Given the description of an element on the screen output the (x, y) to click on. 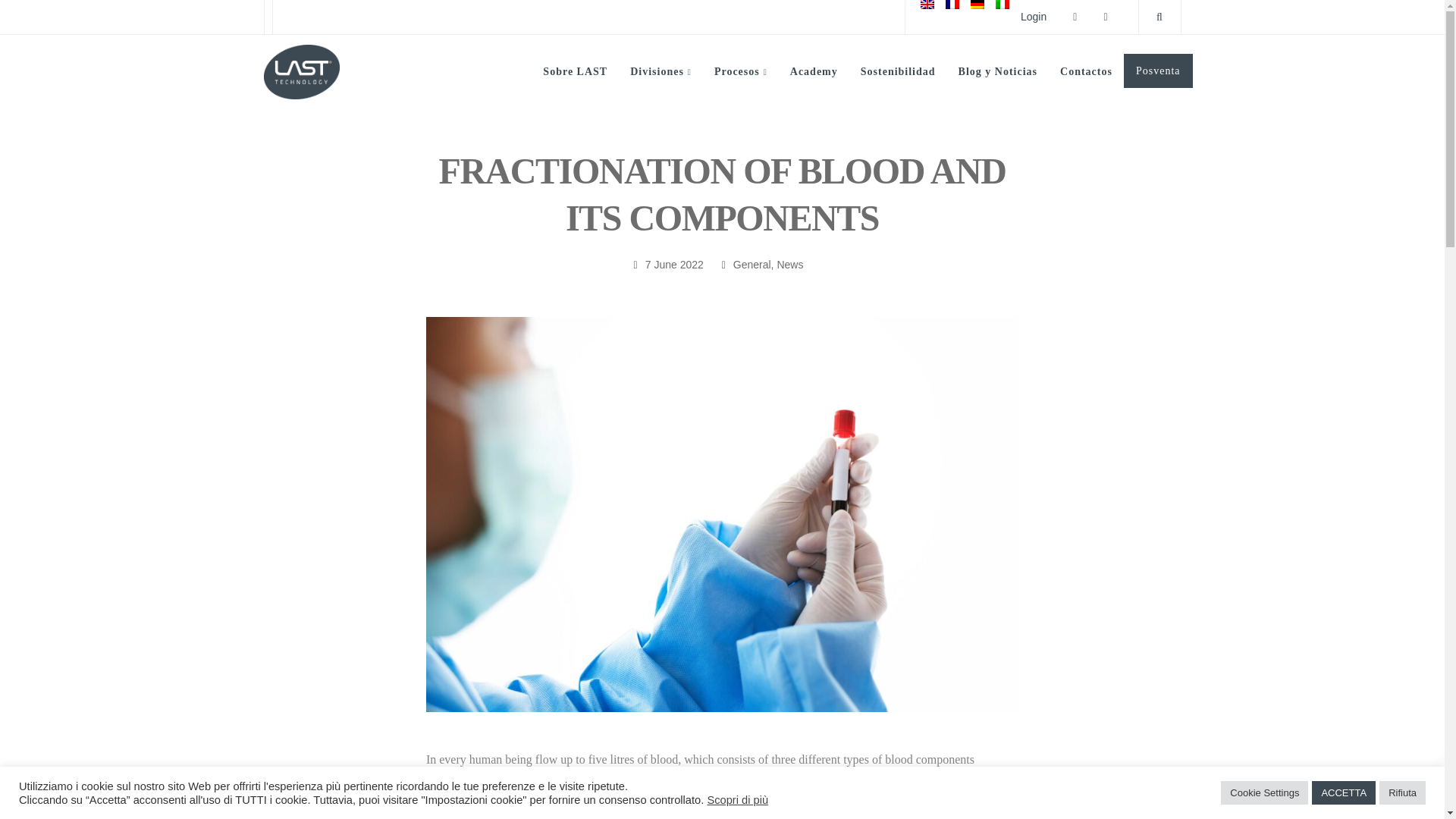
Procesos (740, 71)
General (752, 264)
News (789, 264)
Blog y Noticias (997, 71)
Academy (813, 71)
Contactos (1086, 71)
Login (1033, 16)
Sostenibilidad (897, 71)
Sostenibilidad (897, 71)
Sobre LAST (574, 71)
Divisiones (660, 71)
Posventa (1158, 71)
Sobre LAST (574, 71)
Academy (813, 71)
